Given the description of an element on the screen output the (x, y) to click on. 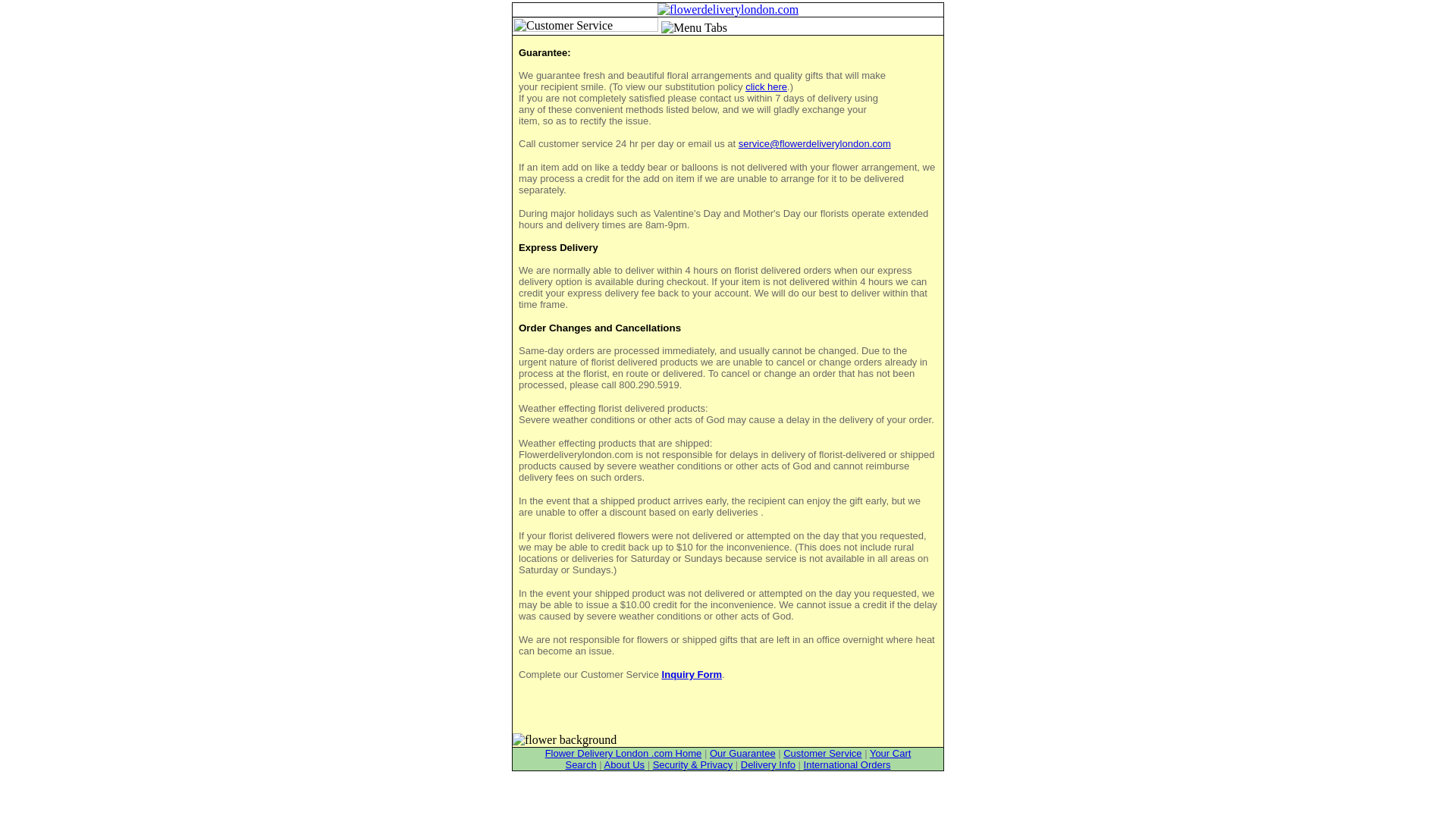
Delivery Info (767, 764)
Search (579, 764)
Flower Delivery London .com Home (622, 753)
About Us (624, 764)
International Orders (847, 764)
Customer Service (822, 753)
Our Guarantee (743, 753)
Inquiry Form (692, 674)
Your Cart (890, 753)
click here (766, 86)
